Given the description of an element on the screen output the (x, y) to click on. 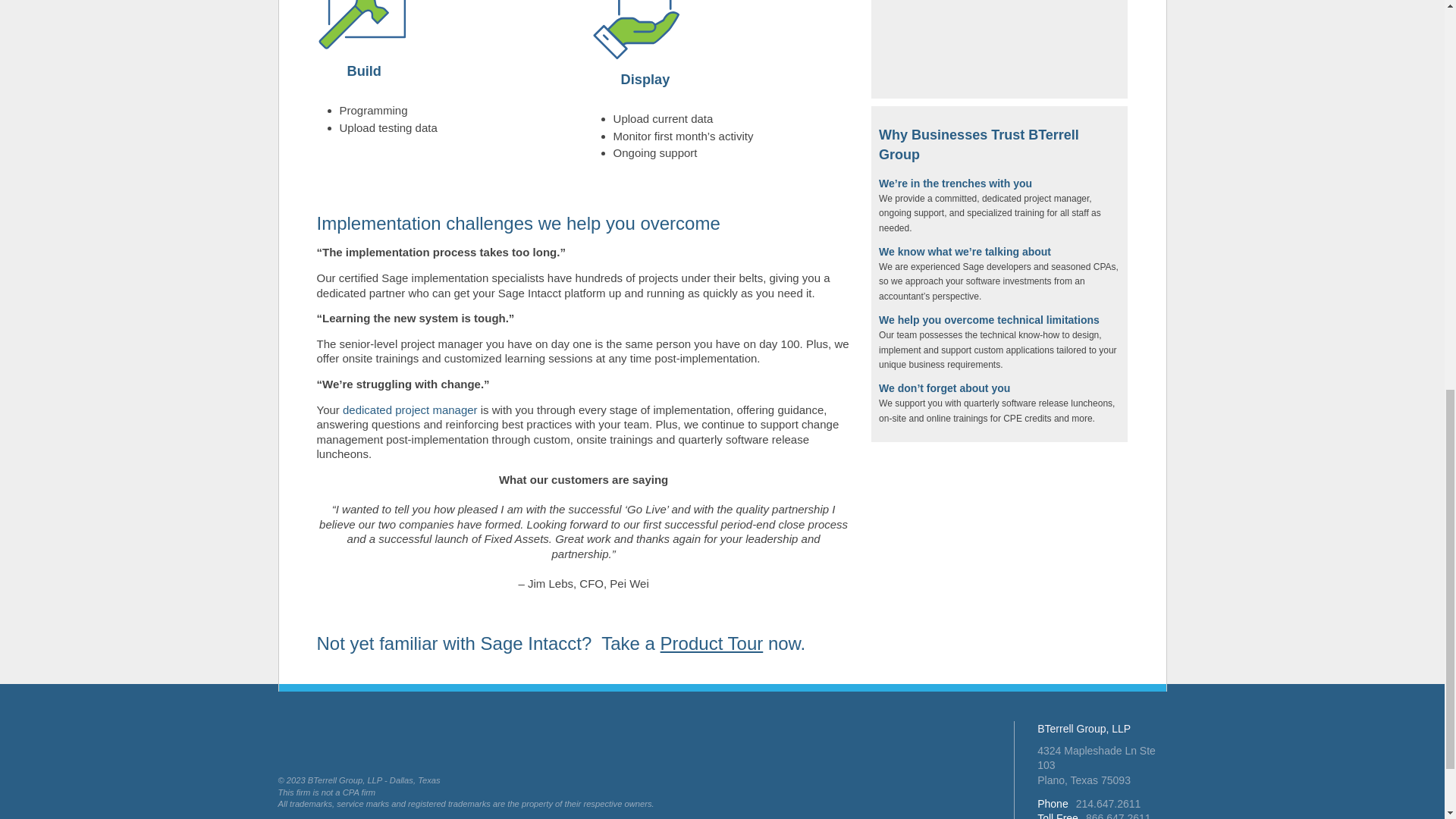
Form 0 (999, 45)
